Given the description of an element on the screen output the (x, y) to click on. 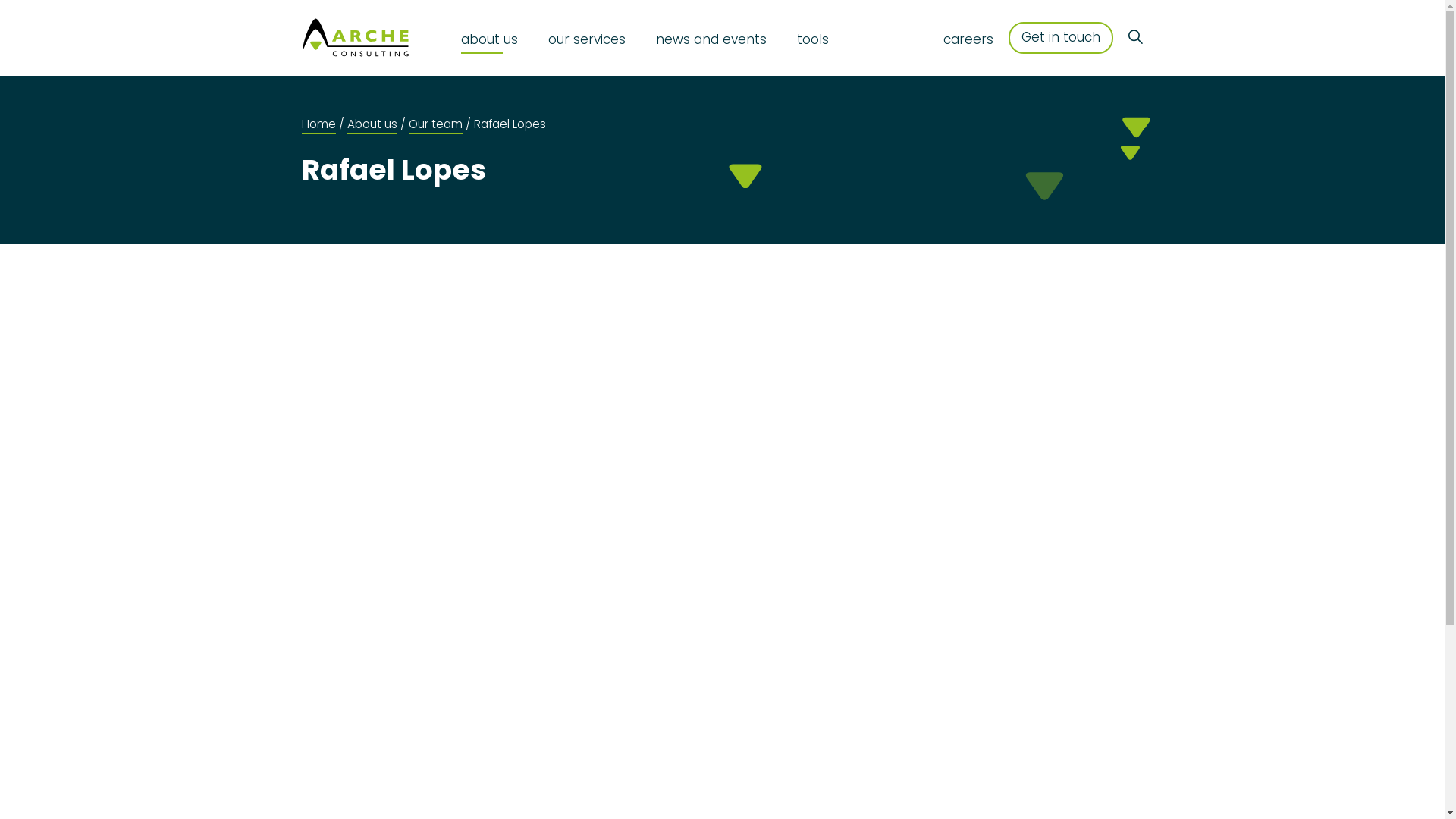
our services Element type: text (586, 37)
Home Element type: text (318, 123)
About us Element type: text (372, 123)
about us Element type: text (489, 37)
tools Element type: text (812, 37)
Our team Element type: text (435, 123)
careers Element type: text (968, 37)
Get in touch Element type: text (1060, 37)
news and events Element type: text (710, 37)
